Given the description of an element on the screen output the (x, y) to click on. 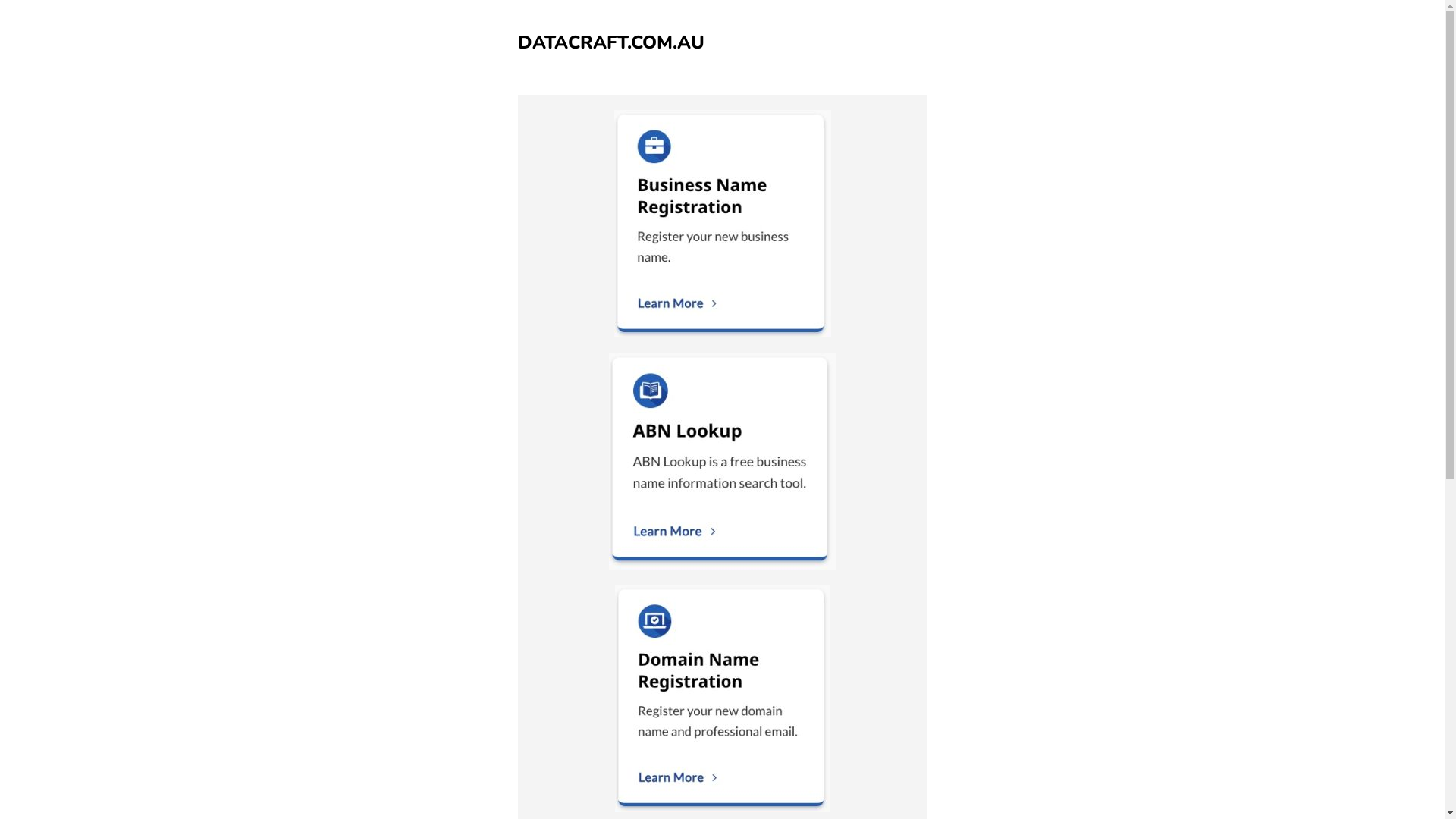
DATACRAFT.COM.AU Element type: text (610, 42)
